Given the description of an element on the screen output the (x, y) to click on. 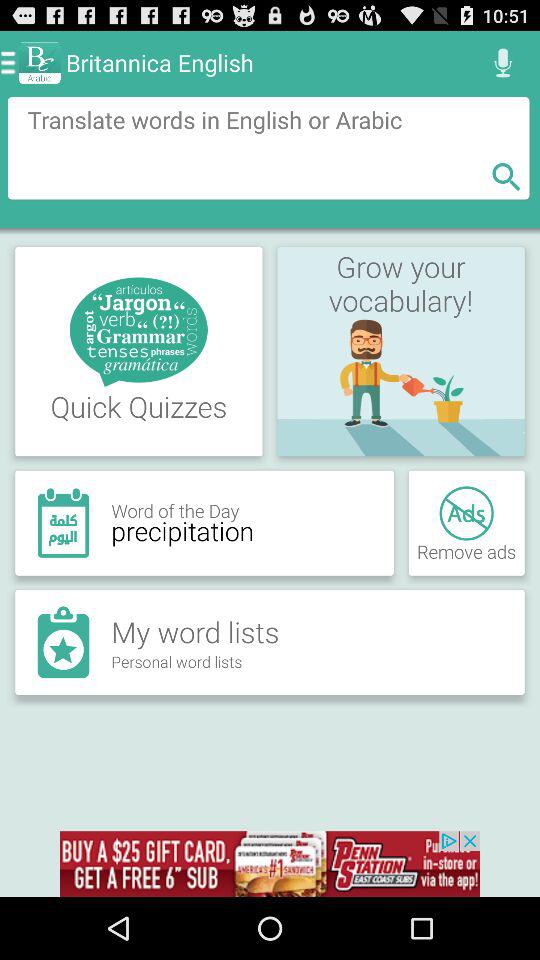
translate text box (268, 148)
